Given the description of an element on the screen output the (x, y) to click on. 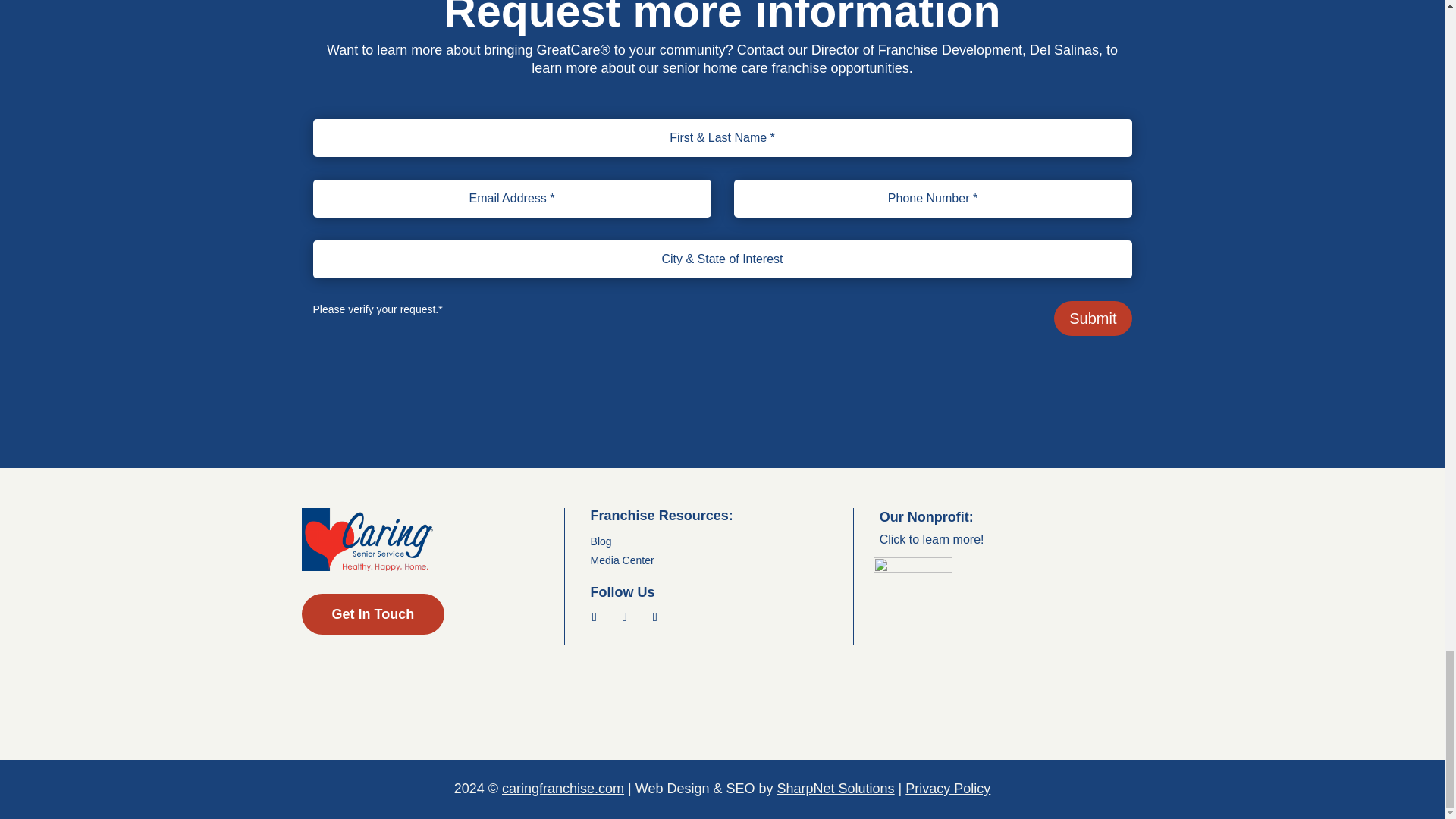
Follow on X (624, 617)
close-the-gap-image (912, 596)
Follow on Youtube (654, 617)
Follow on Facebook (594, 617)
css-logo-png (366, 538)
